Given the description of an element on the screen output the (x, y) to click on. 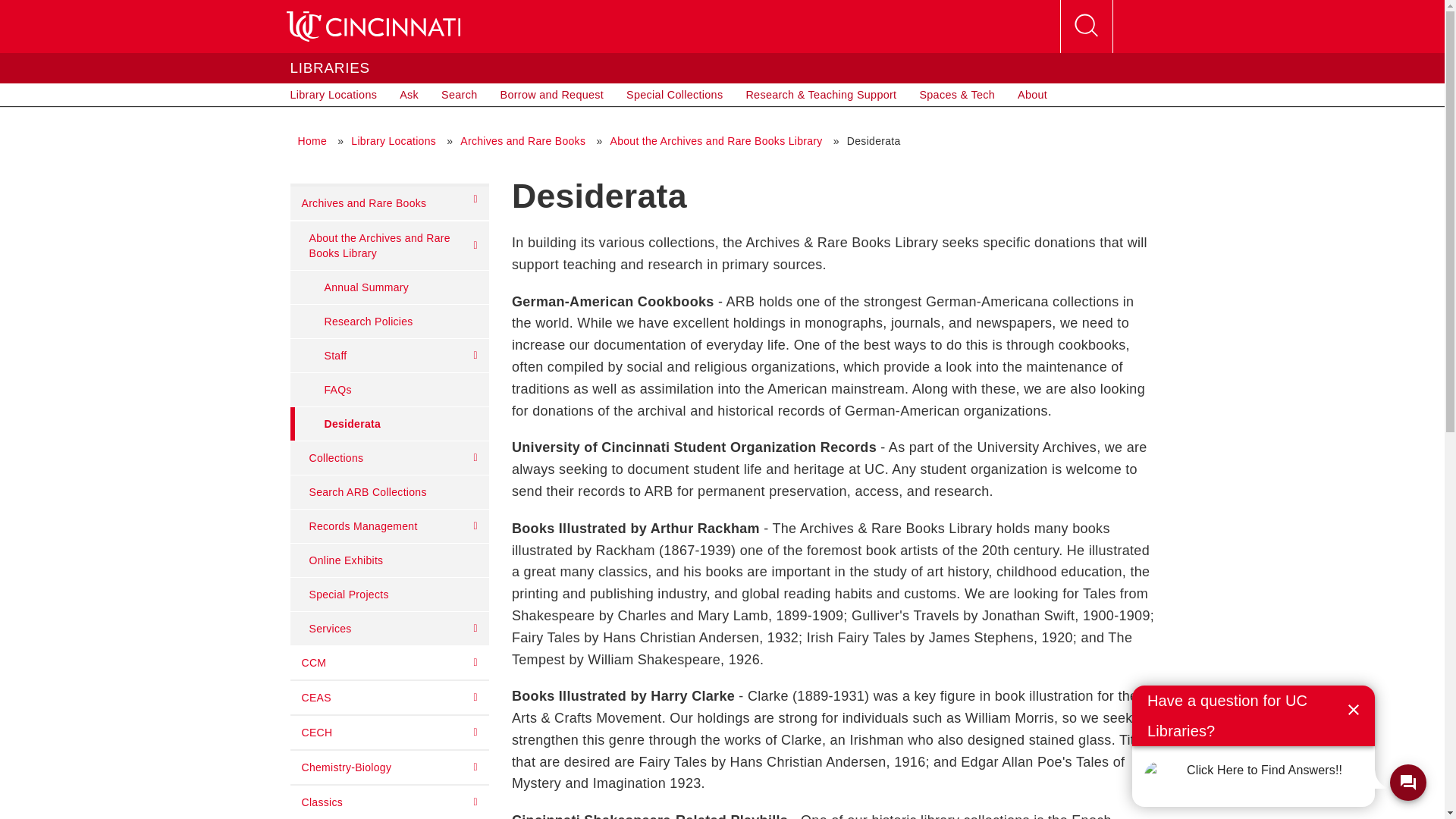
magnifying glass (1086, 26)
magnifying glass (1085, 25)
LIBRARIES (329, 67)
Library Locations (333, 94)
